Given the description of an element on the screen output the (x, y) to click on. 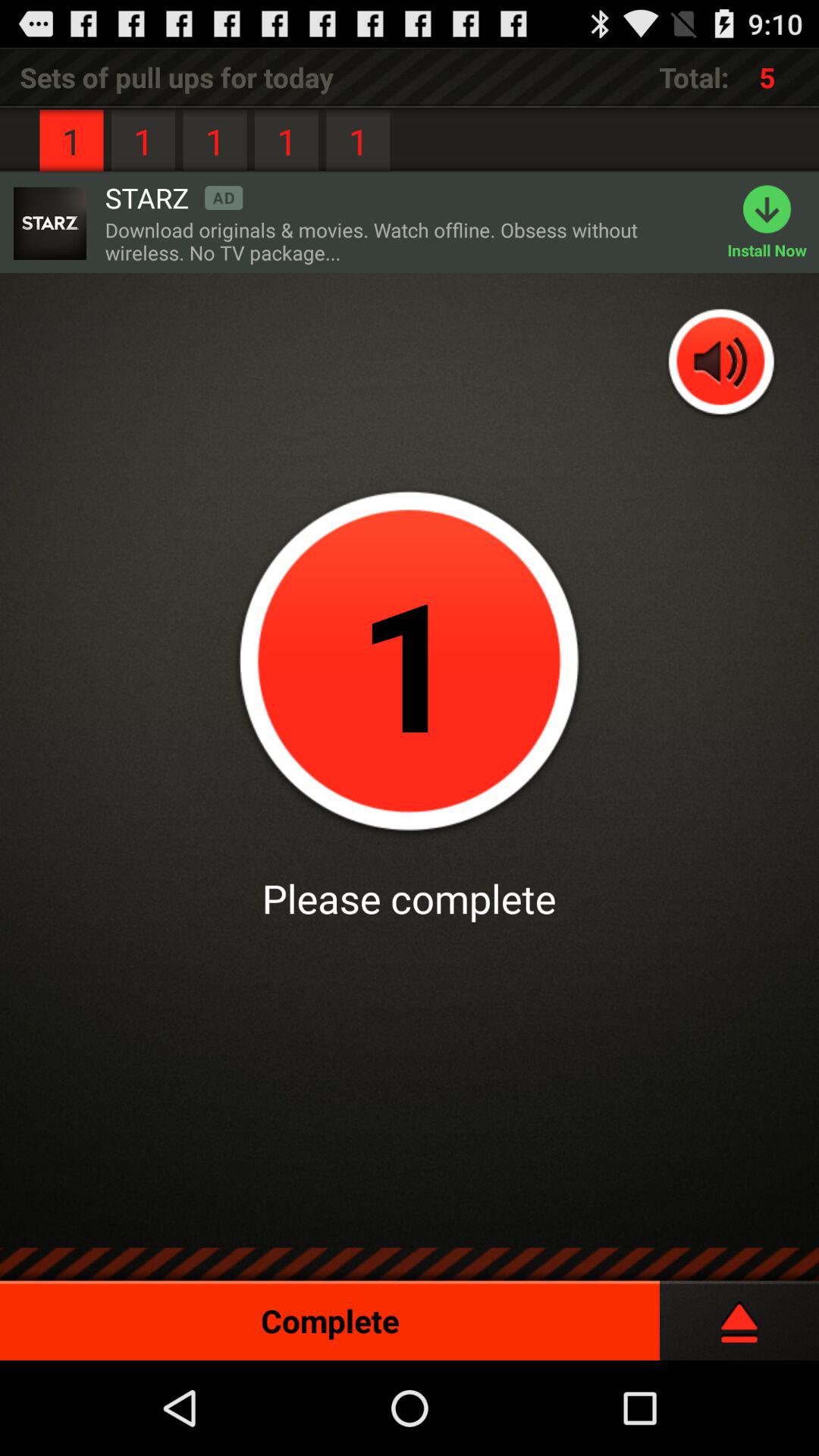
swipe until the starz icon (173, 197)
